Given the description of an element on the screen output the (x, y) to click on. 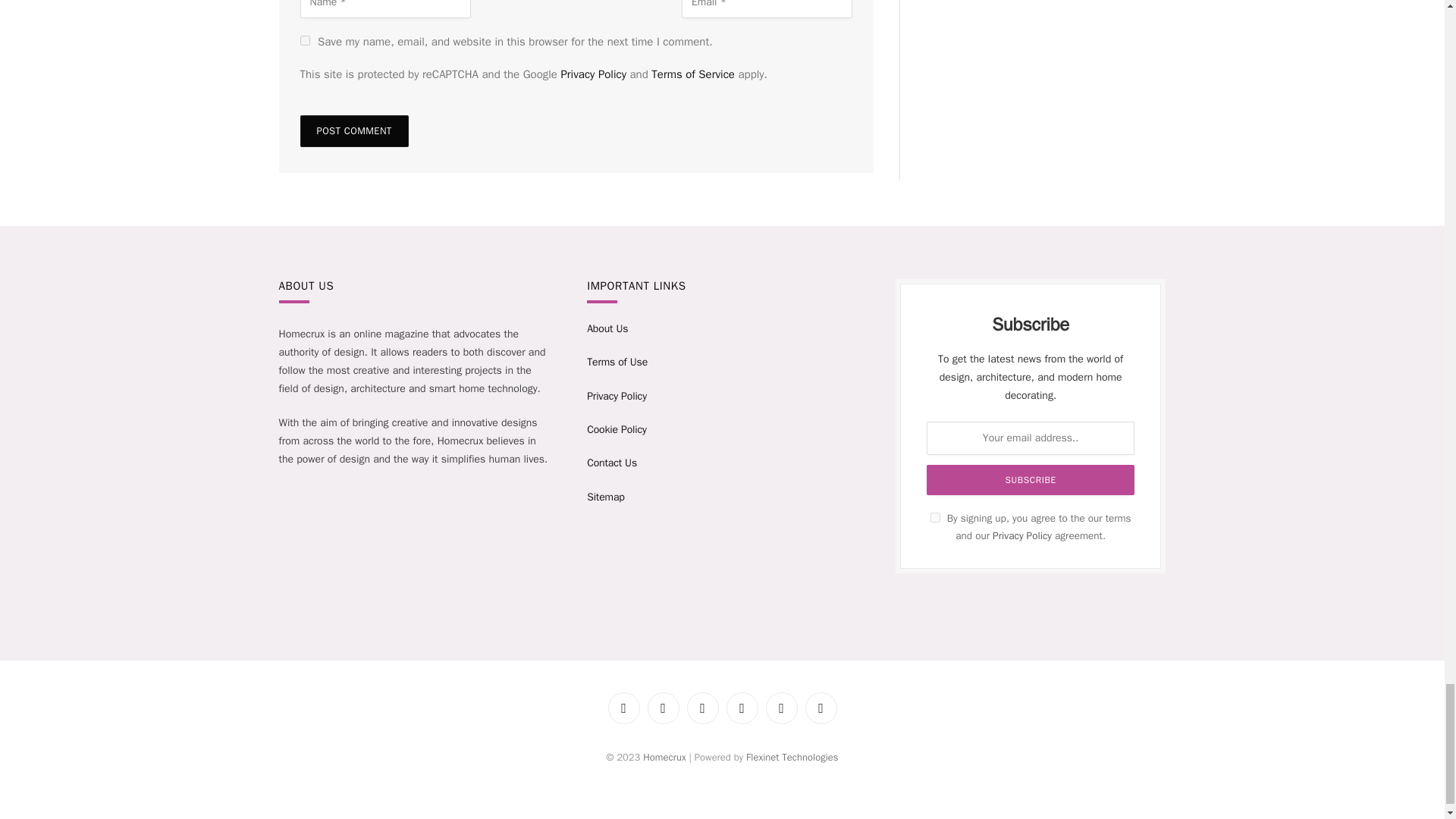
Subscribe (1030, 480)
on (935, 517)
Post Comment (354, 131)
yes (304, 40)
